Given the description of an element on the screen output the (x, y) to click on. 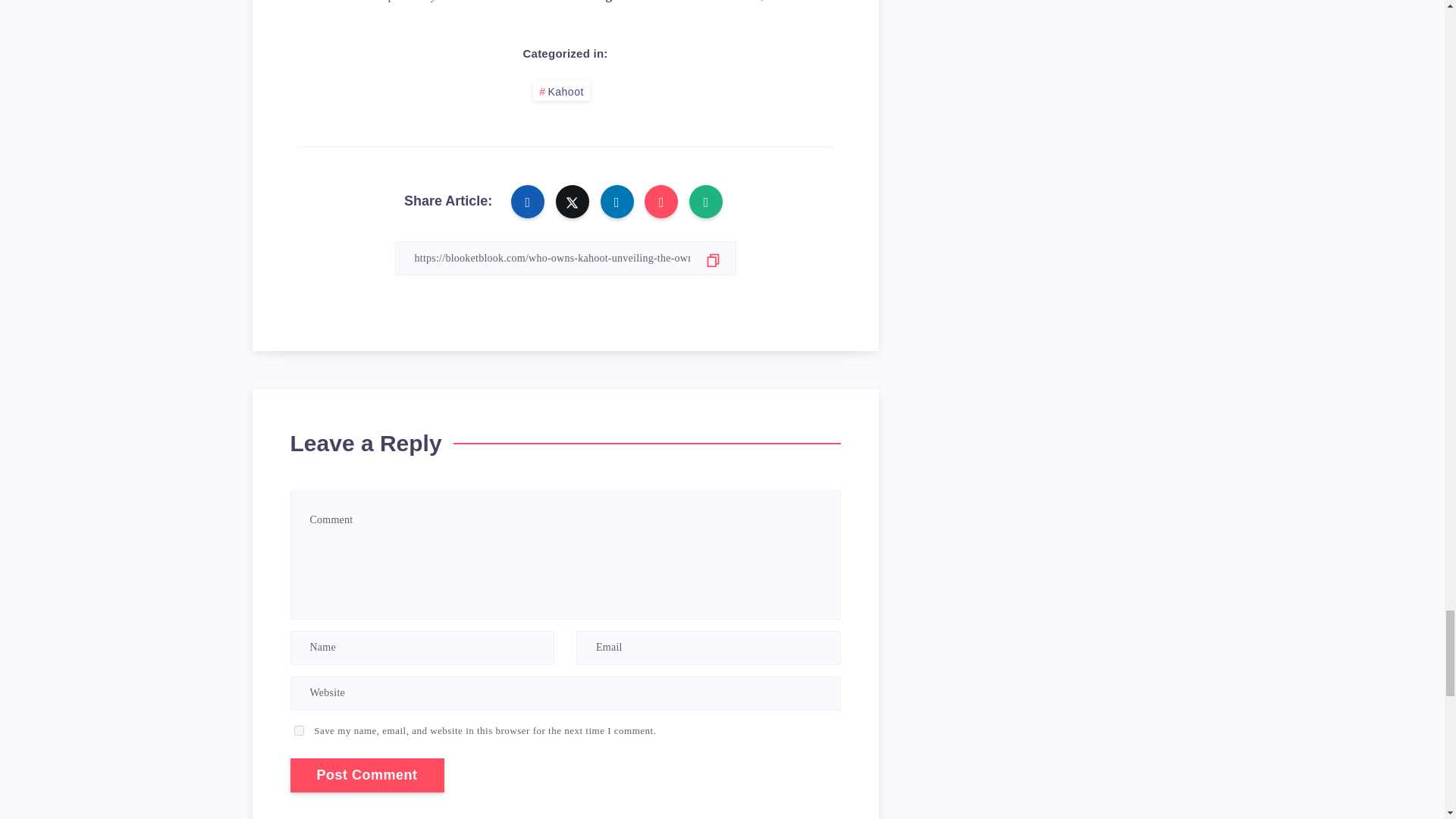
Post Comment (366, 775)
yes (299, 730)
